Given the description of an element on the screen output the (x, y) to click on. 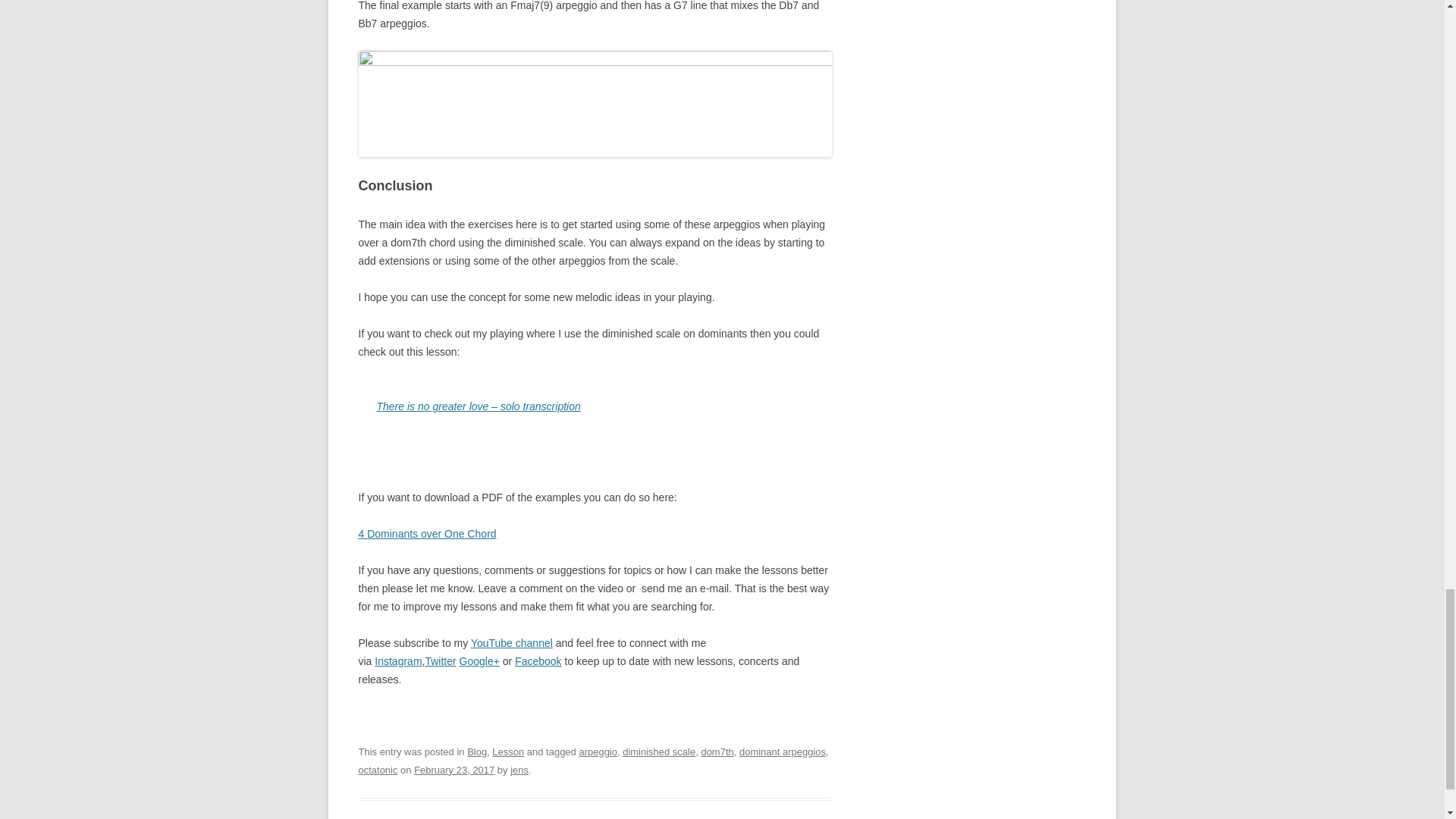
February 23, 2017 (454, 769)
dominant arpeggios (782, 751)
arpeggio (597, 751)
Instagram (398, 661)
Blog (476, 751)
20:13 (454, 769)
diminished scale (659, 751)
Lesson (508, 751)
Twitter (440, 661)
4 Dominants over One Chord (427, 533)
